Given the description of an element on the screen output the (x, y) to click on. 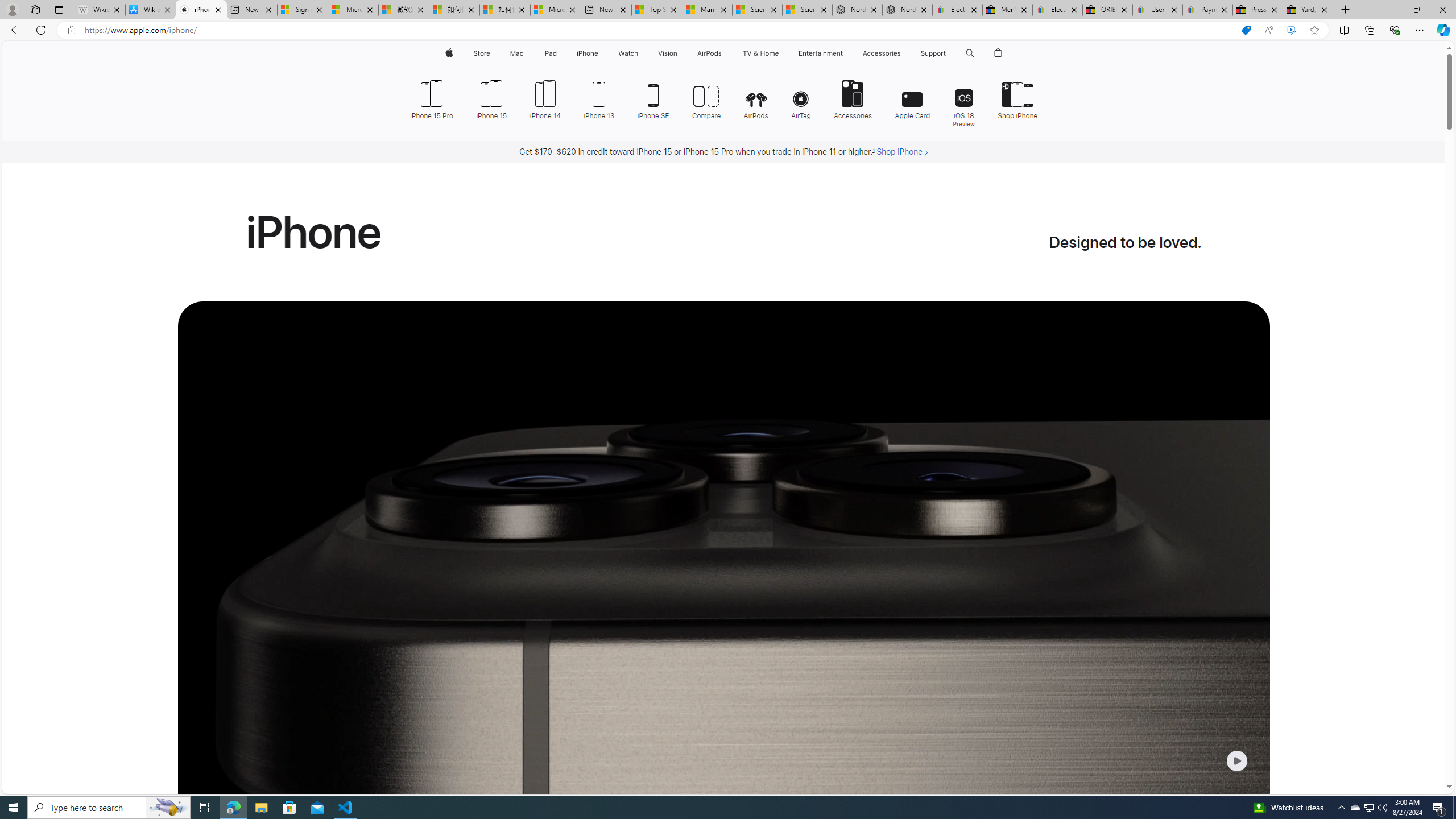
AirPods (756, 98)
Accessories (853, 98)
Store (481, 53)
iPhone (587, 53)
iPhone (587, 53)
iPhone 14 (545, 98)
AutomationID: globalnav-bag (998, 53)
iOS 18 Preview (963, 101)
Vision (667, 53)
